Given the description of an element on the screen output the (x, y) to click on. 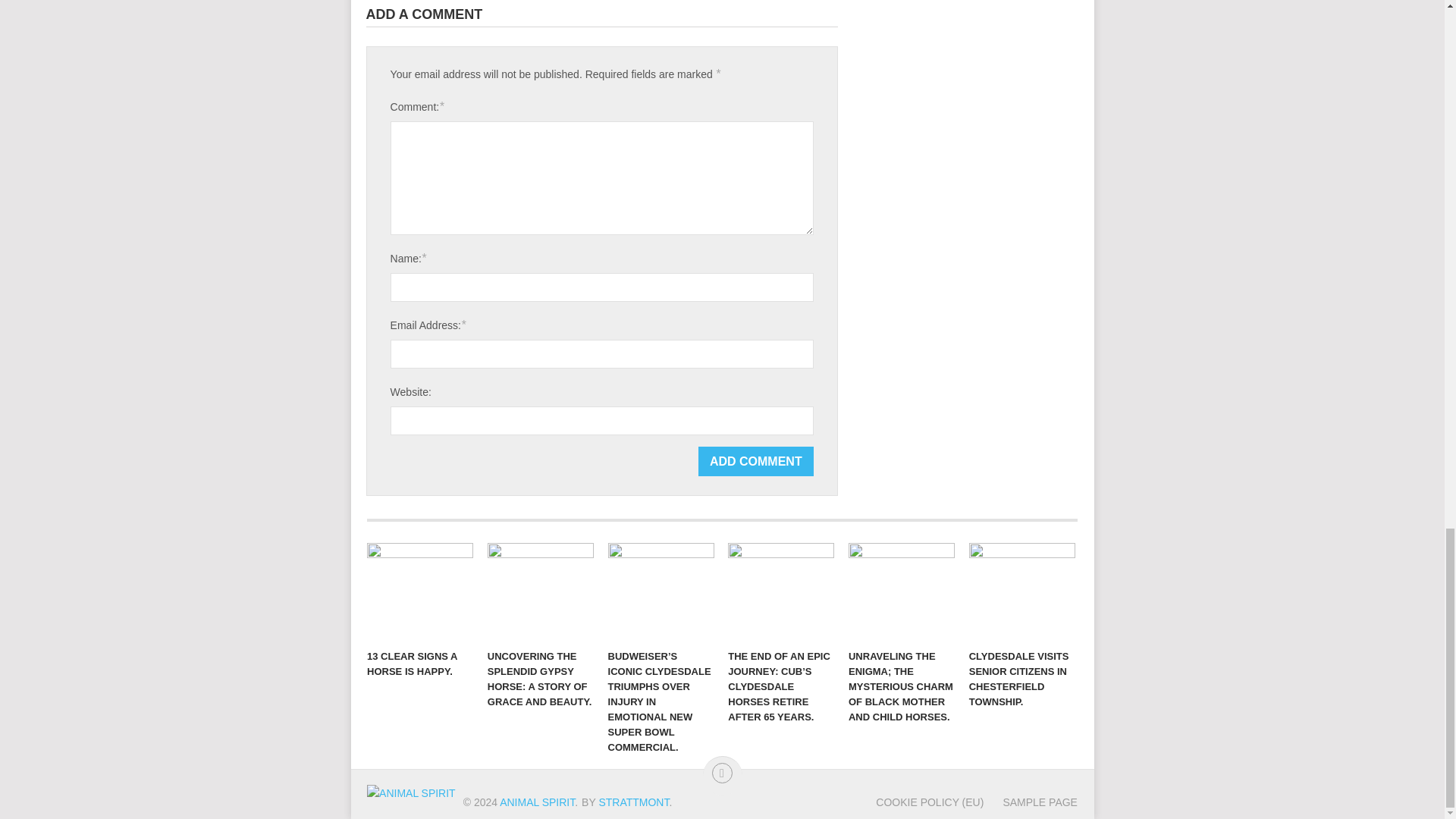
13 CLEAR SIGNS A HORSE IS HAPPY. (419, 591)
SAMPLE PAGE (1030, 802)
13 Clear Signs a Horse is Happy. (419, 591)
ANIMAL SPIRIT (537, 802)
Add Comment (755, 460)
STRATTMONT (633, 802)
CLYDESDALE VISITS SENIOR CITIZENS IN CHESTERFIELD TOWNSHIP. (1022, 591)
Add Comment (755, 460)
